Given the description of an element on the screen output the (x, y) to click on. 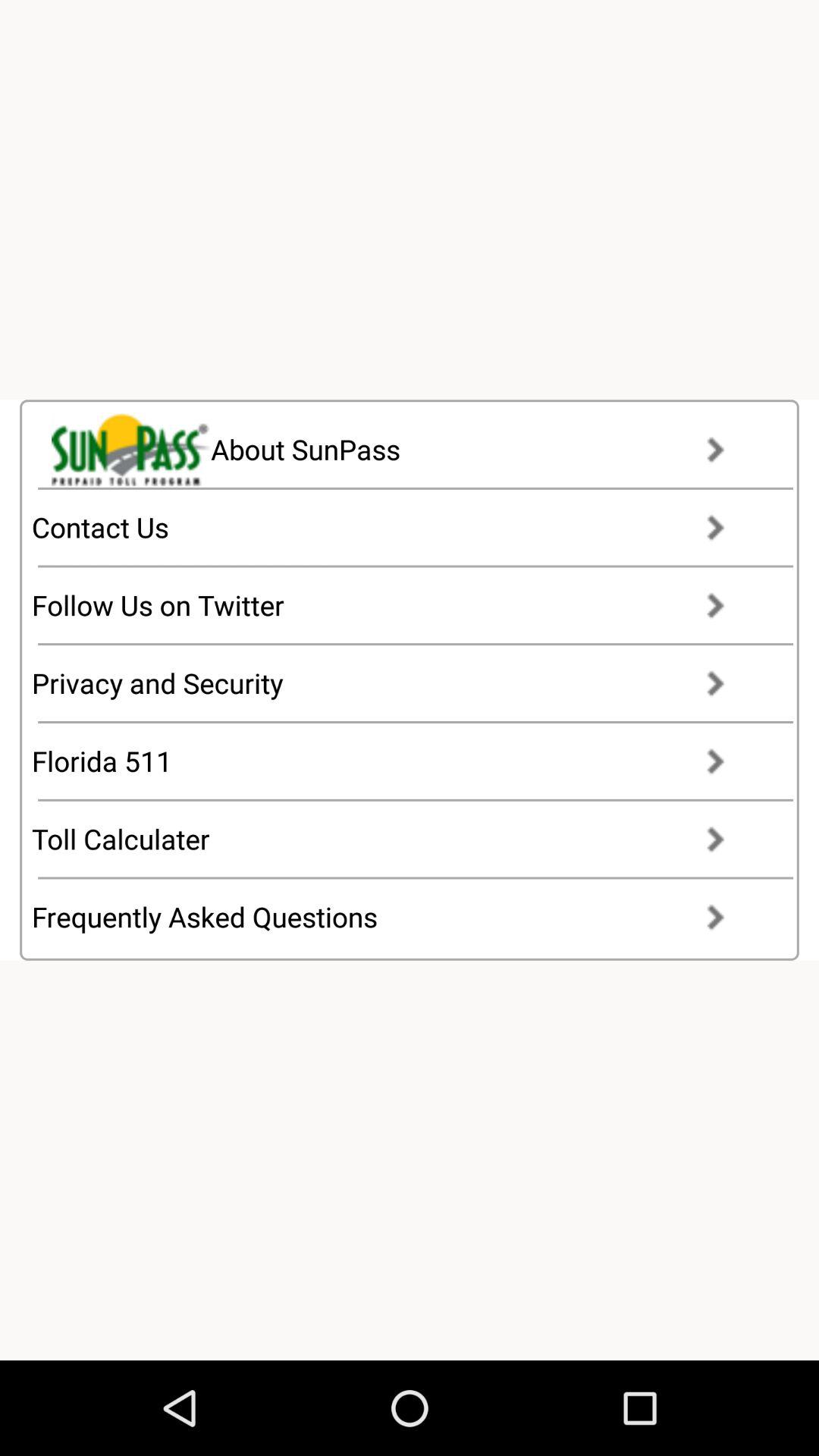
scroll to contact us button (392, 527)
